Given the description of an element on the screen output the (x, y) to click on. 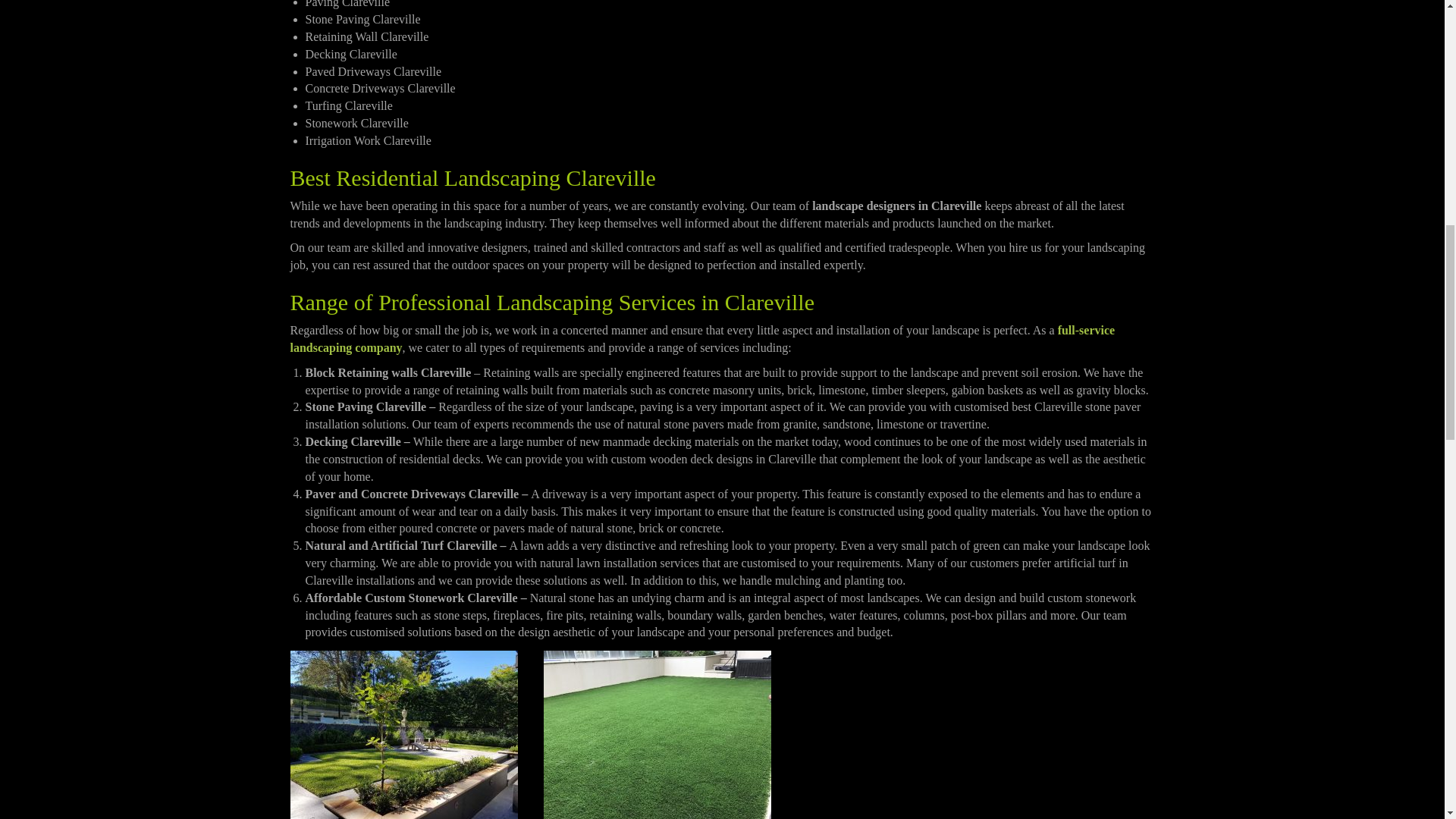
full-service landscaping company (702, 338)
